Given the description of an element on the screen output the (x, y) to click on. 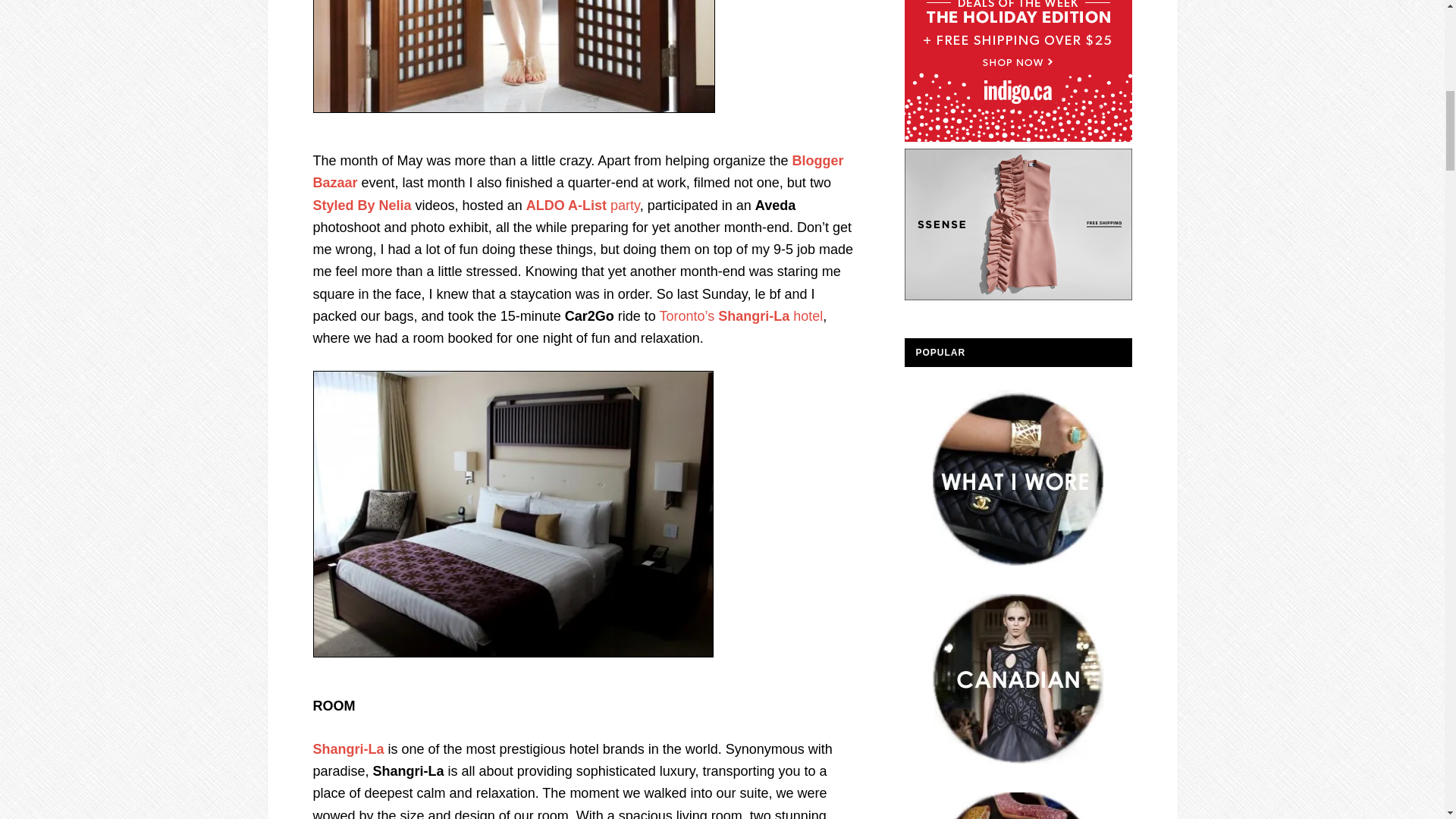
Blogger Bazaar (578, 171)
Shangri-La (348, 749)
ALDO A-List party (582, 205)
Styled By Nelia (361, 205)
